Given the description of an element on the screen output the (x, y) to click on. 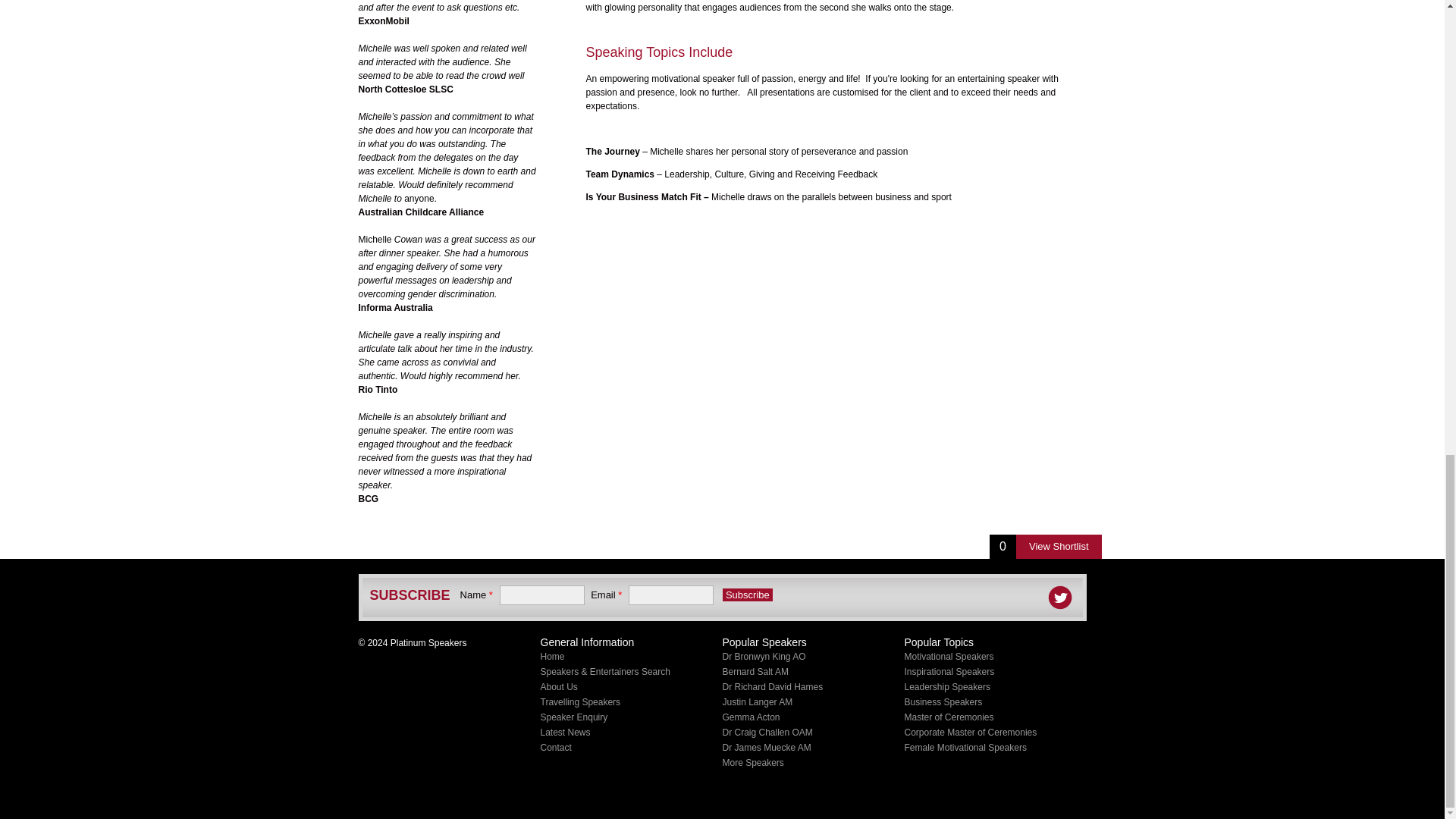
Subscribe (747, 594)
About Us (558, 686)
Subscribe (747, 594)
Travelling Speakers (580, 701)
Home (552, 656)
View Shortlist (1059, 546)
